Given the description of an element on the screen output the (x, y) to click on. 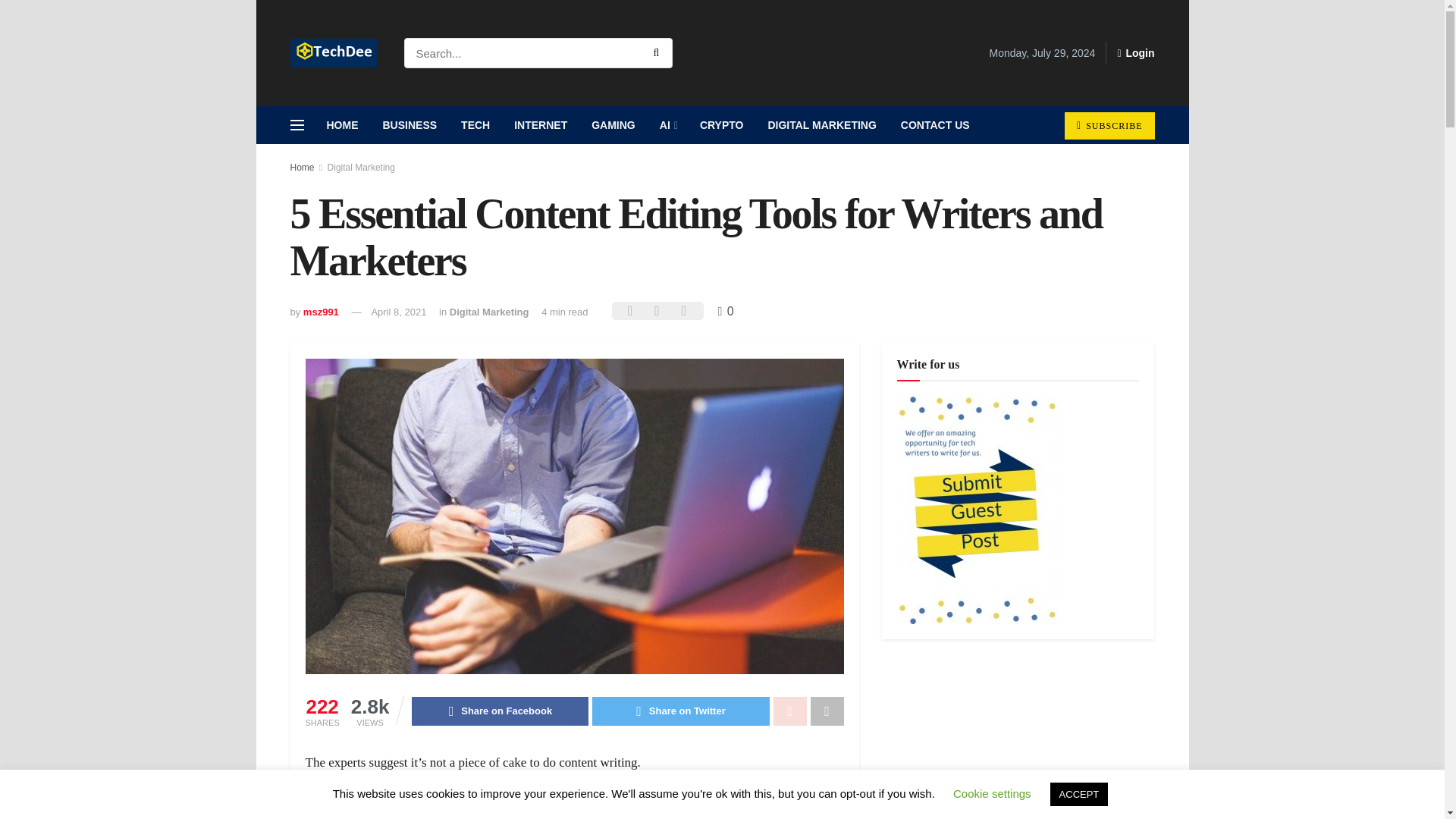
DIGITAL MARKETING (821, 125)
April 8, 2021 (398, 311)
GAMING (613, 125)
Digital Marketing (360, 167)
Digital Marketing (489, 311)
HOME (341, 125)
AI (667, 125)
SUBSCRIBE (1109, 125)
CONTACT US (934, 125)
BUSINESS (408, 125)
INTERNET (540, 125)
TECH (475, 125)
Login (1135, 53)
msz991 (320, 311)
CRYPTO (721, 125)
